Given the description of an element on the screen output the (x, y) to click on. 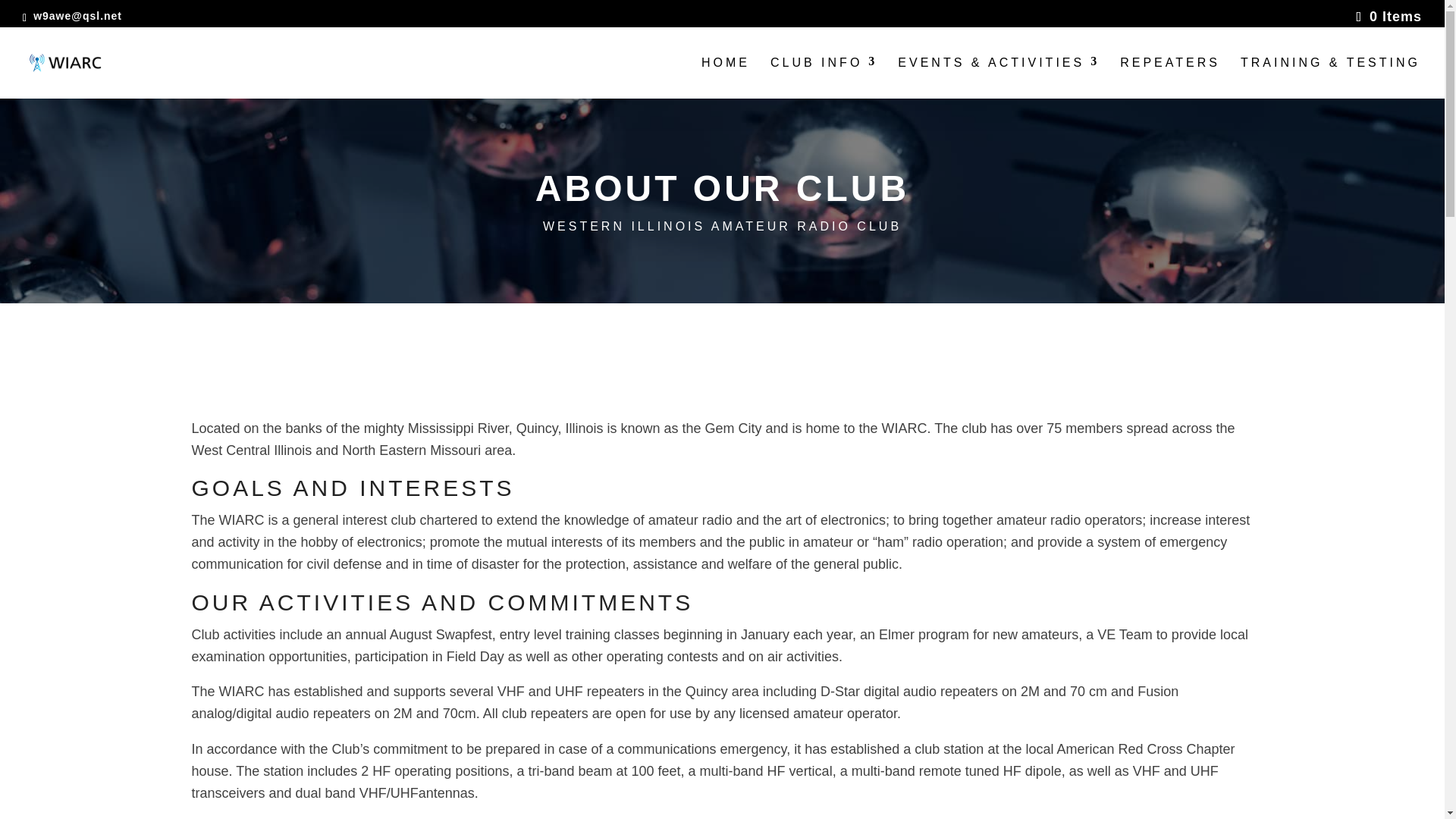
CLUB INFO (823, 77)
0 Items (1388, 16)
REPEATERS (1169, 77)
Back to Main (725, 77)
HOME (725, 77)
